Given the description of an element on the screen output the (x, y) to click on. 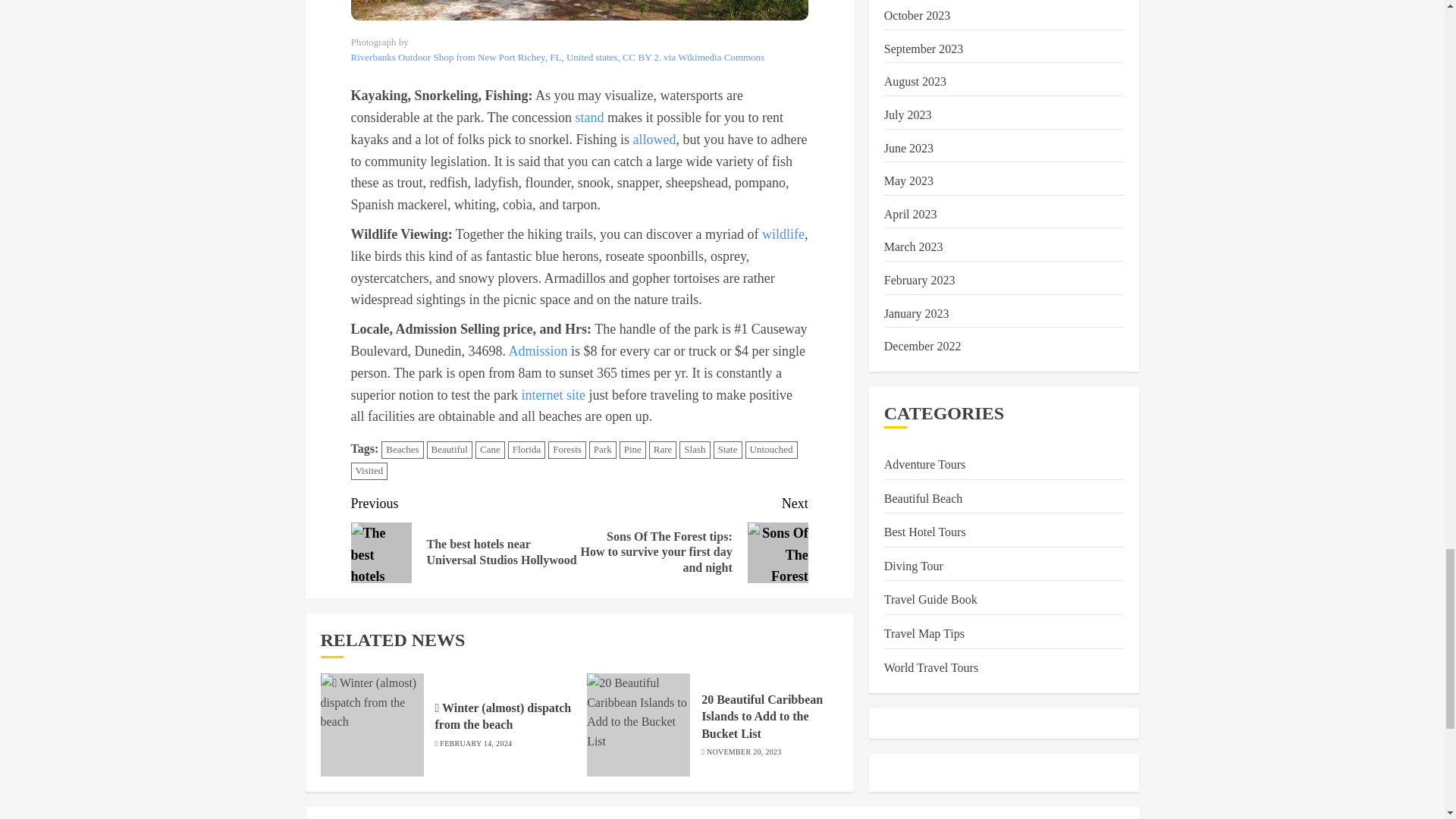
The best hotels near Universal Studios Hollywood (380, 552)
20 Beautiful Caribbean Islands to Add to the Bucket List (638, 724)
stand (589, 117)
